Given the description of an element on the screen output the (x, y) to click on. 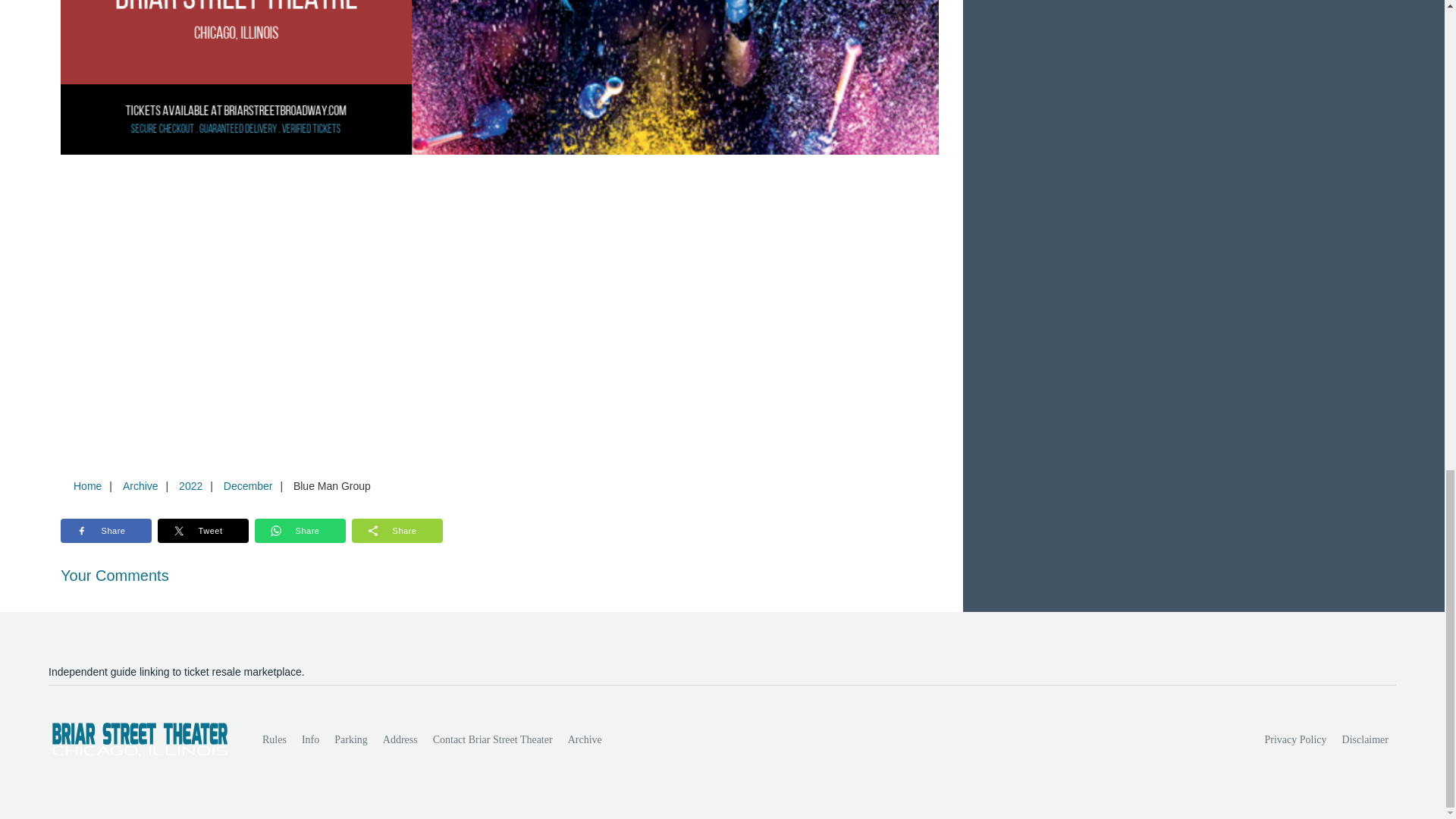
Archive (140, 485)
Contact Briar Street Theater (492, 739)
Disclaimer (1365, 739)
Info (310, 739)
Rules (274, 739)
2022 (190, 485)
Address (400, 739)
Parking (350, 739)
Privacy Policy (1296, 739)
December (248, 485)
Home (87, 485)
Archive (585, 739)
